Given the description of an element on the screen output the (x, y) to click on. 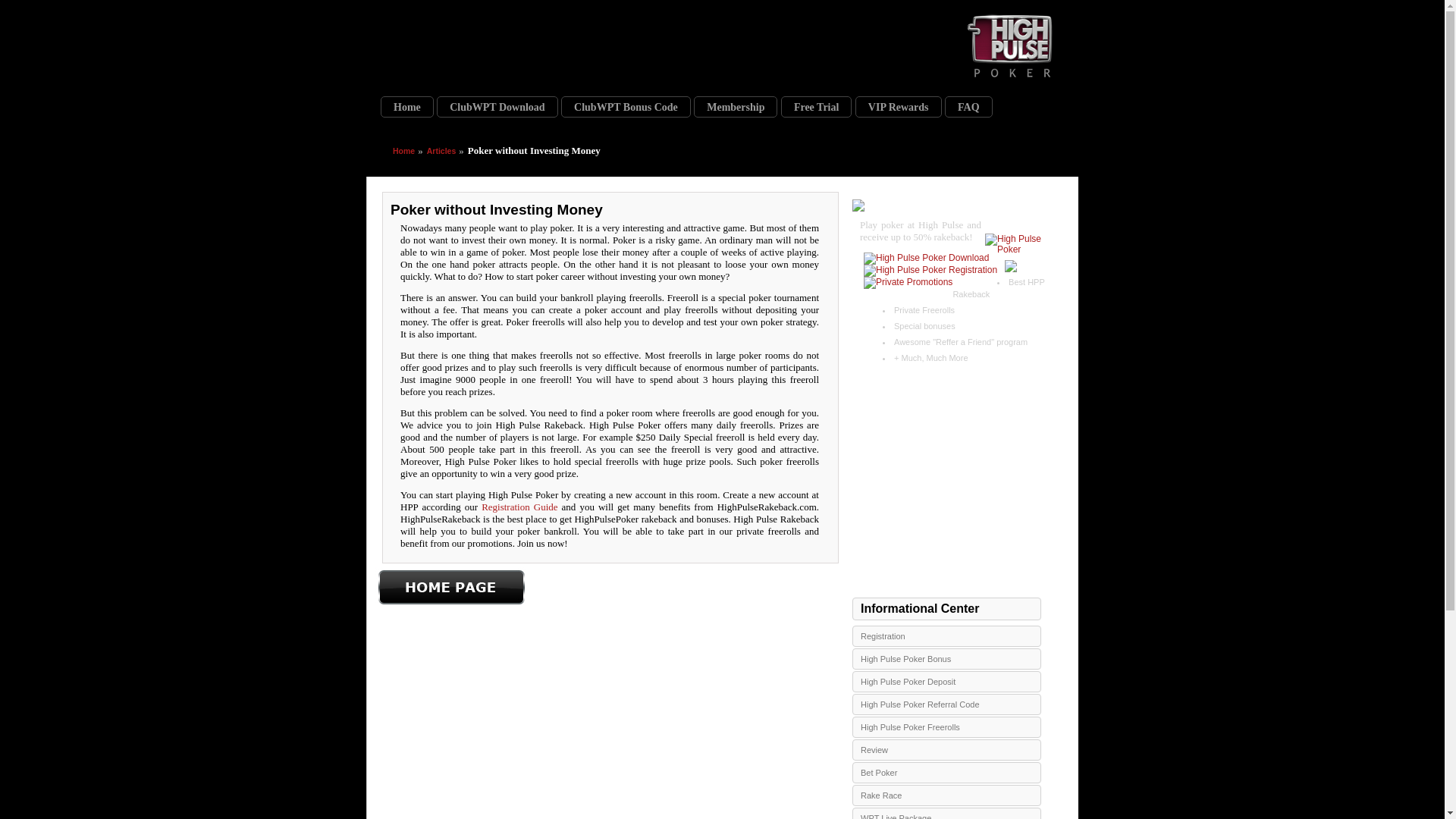
FAQ (968, 106)
High Pulse Poker Freerolls (947, 727)
VIP Rewards (899, 106)
Bet Poker (947, 772)
Home (406, 106)
ClubWPT Bonus Code (625, 106)
High Pulse Poker Rakeback (513, 42)
WPT Live Package (947, 813)
Articles (441, 150)
Free Trial (815, 106)
Membership (735, 106)
Review (947, 750)
High Pulse Poker Deposit (947, 681)
ClubWPT Download (496, 106)
Rake Race (947, 795)
